Given the description of an element on the screen output the (x, y) to click on. 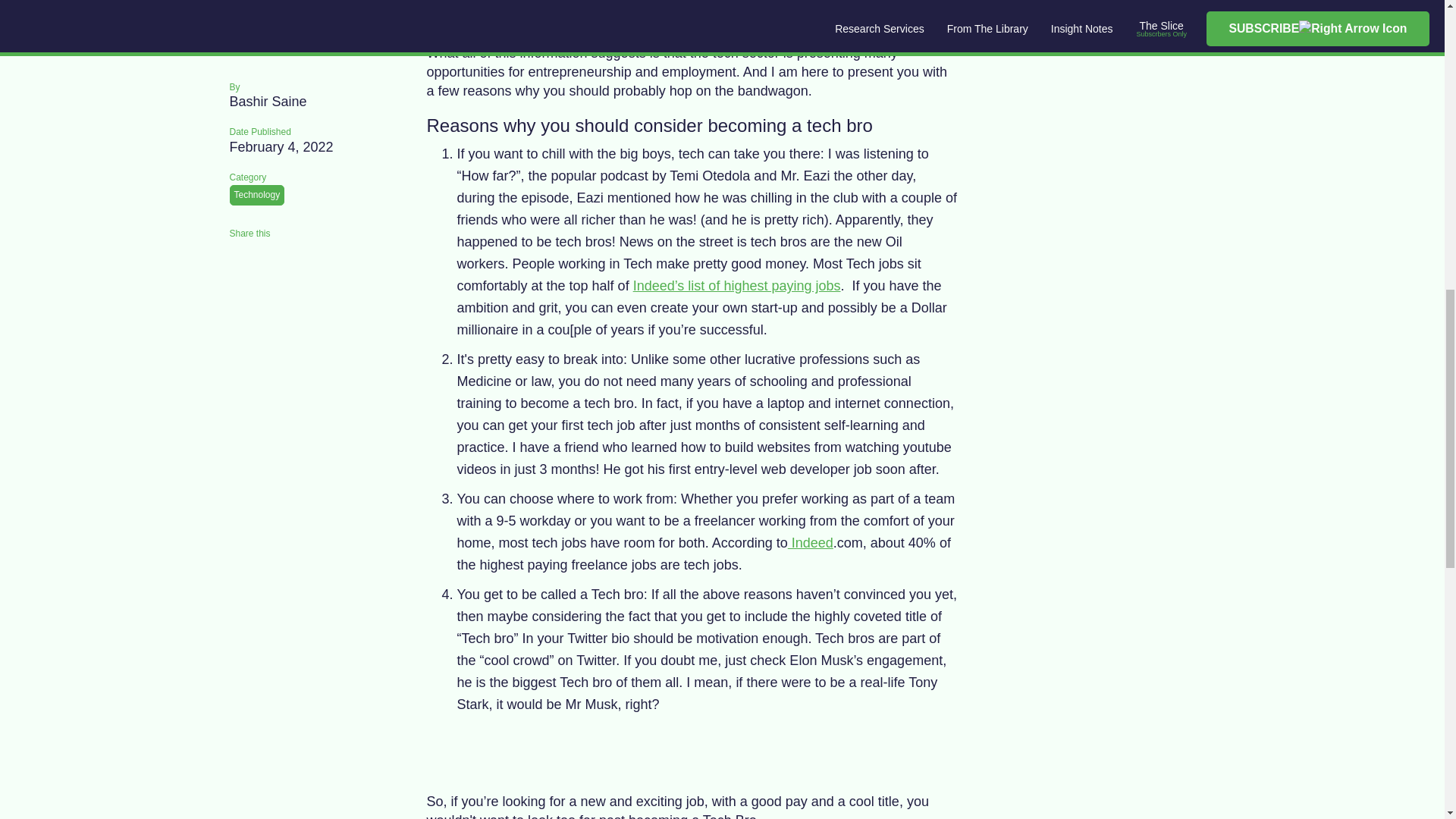
Indeed (809, 542)
